Given the description of an element on the screen output the (x, y) to click on. 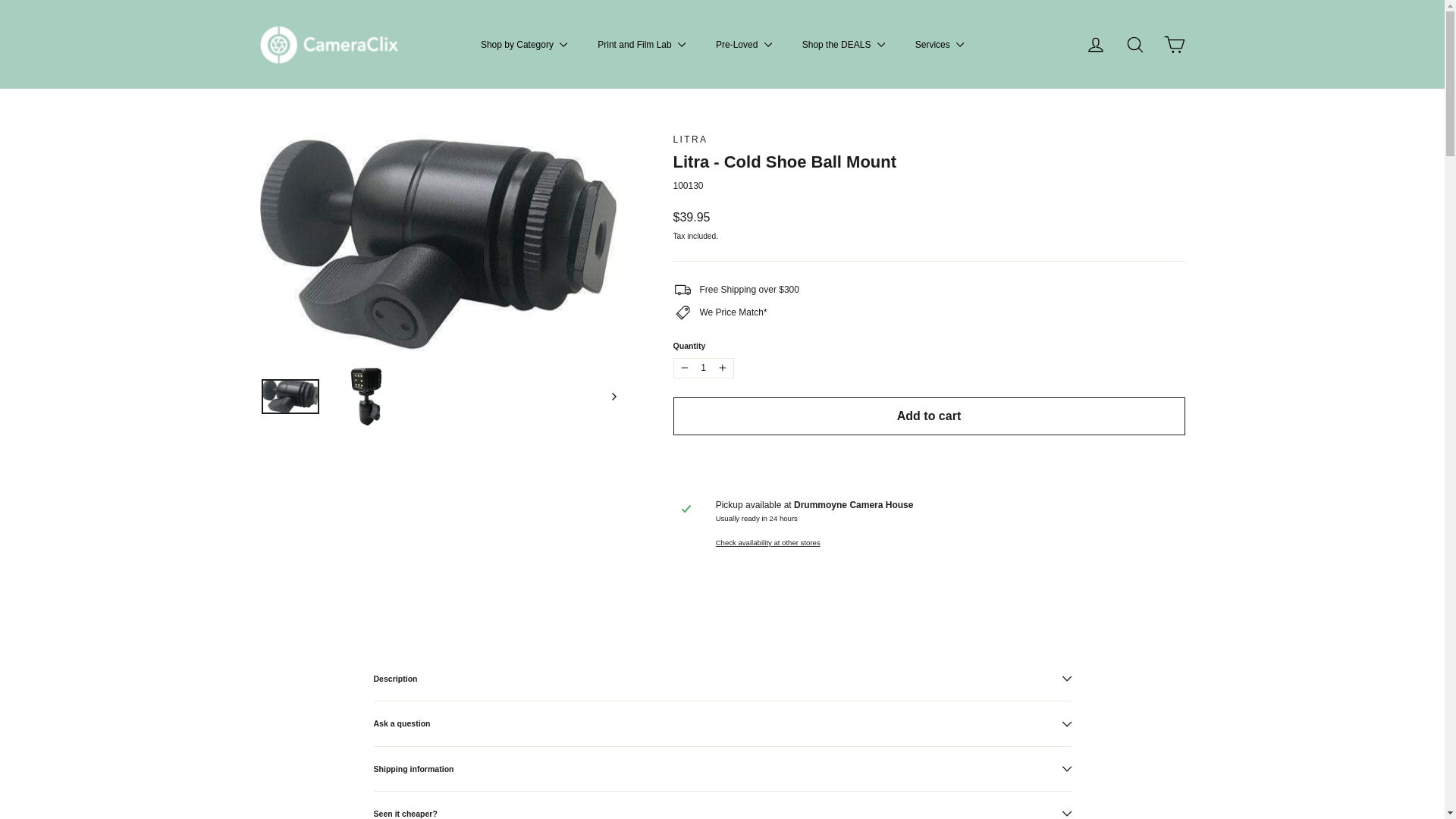
icon-search (1134, 44)
1 (702, 367)
account (1094, 44)
icon-cart (1174, 44)
Litra (689, 139)
